Given the description of an element on the screen output the (x, y) to click on. 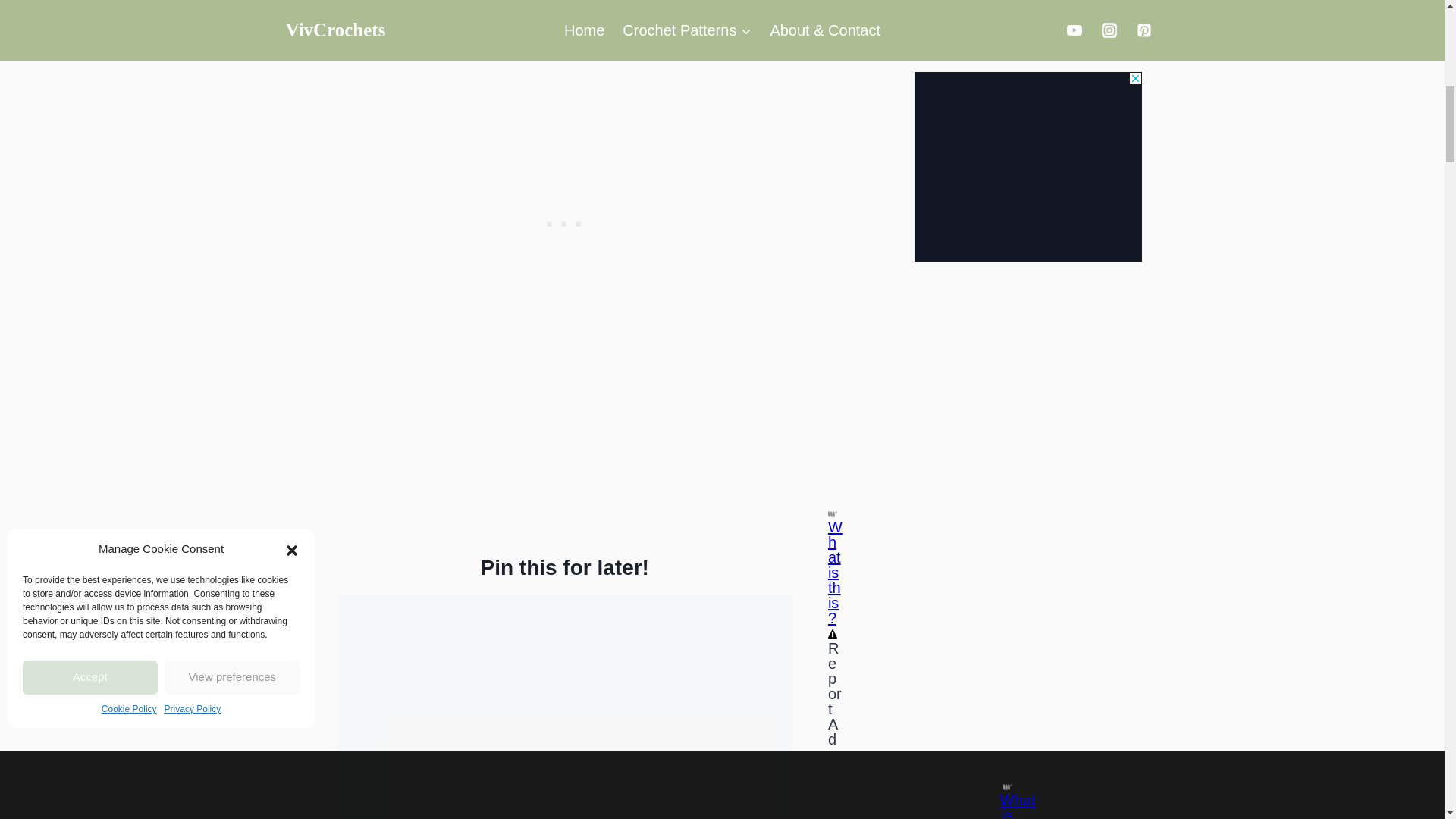
Pin this for later! (563, 567)
3rd party ad content (564, 220)
